Given the description of an element on the screen output the (x, y) to click on. 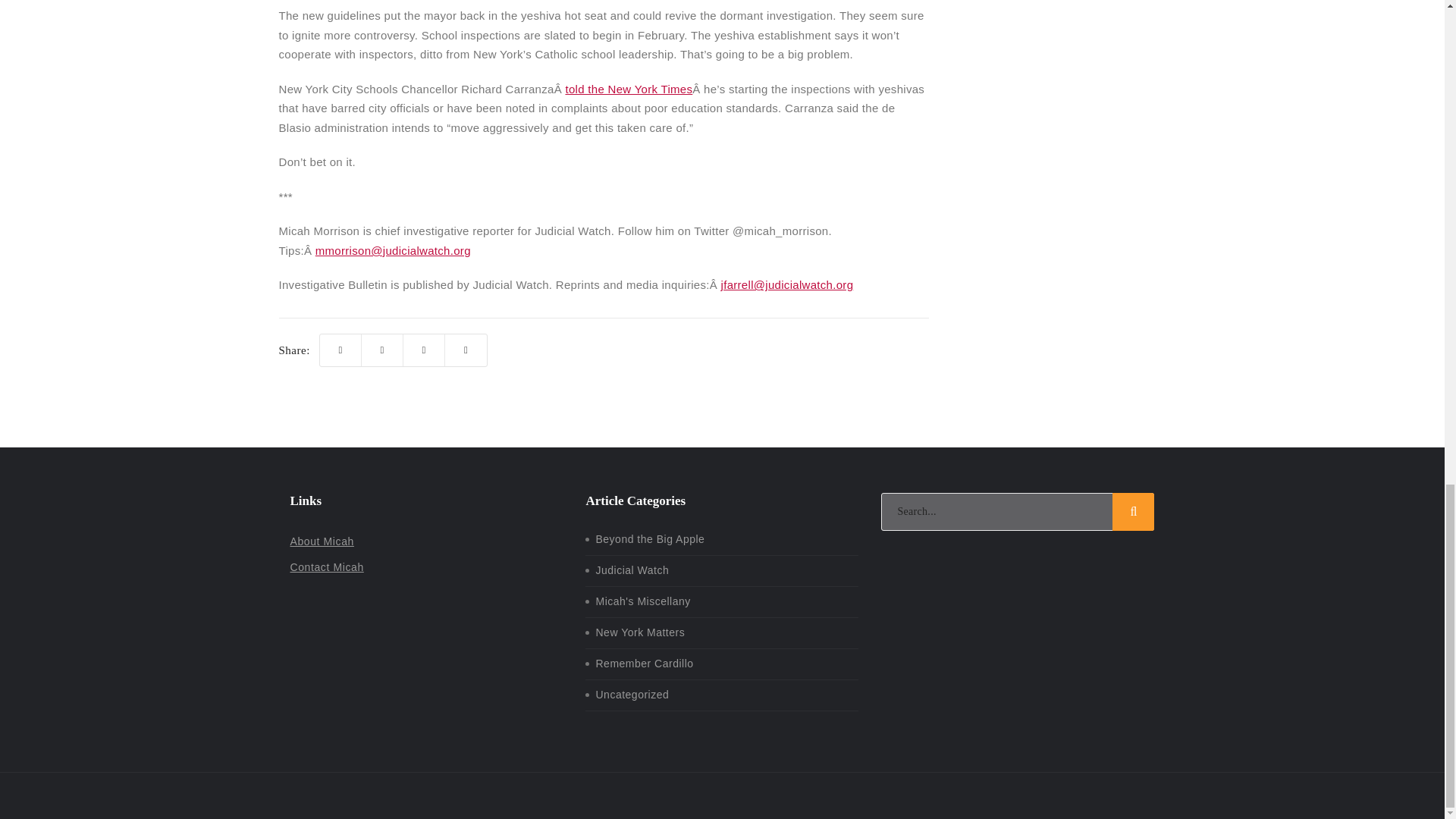
Beyond the Big Apple (649, 539)
Share On Twitter (340, 350)
Uncategorized (631, 694)
Micah's Miscellany (642, 601)
Contact Micah (325, 567)
Share On Linkedin (424, 350)
About Micah (321, 541)
Share On Facebook (382, 350)
New York Matters (639, 632)
told the New York Times (628, 88)
Judicial Watch (631, 570)
Remember Cardillo (644, 663)
